Given the description of an element on the screen output the (x, y) to click on. 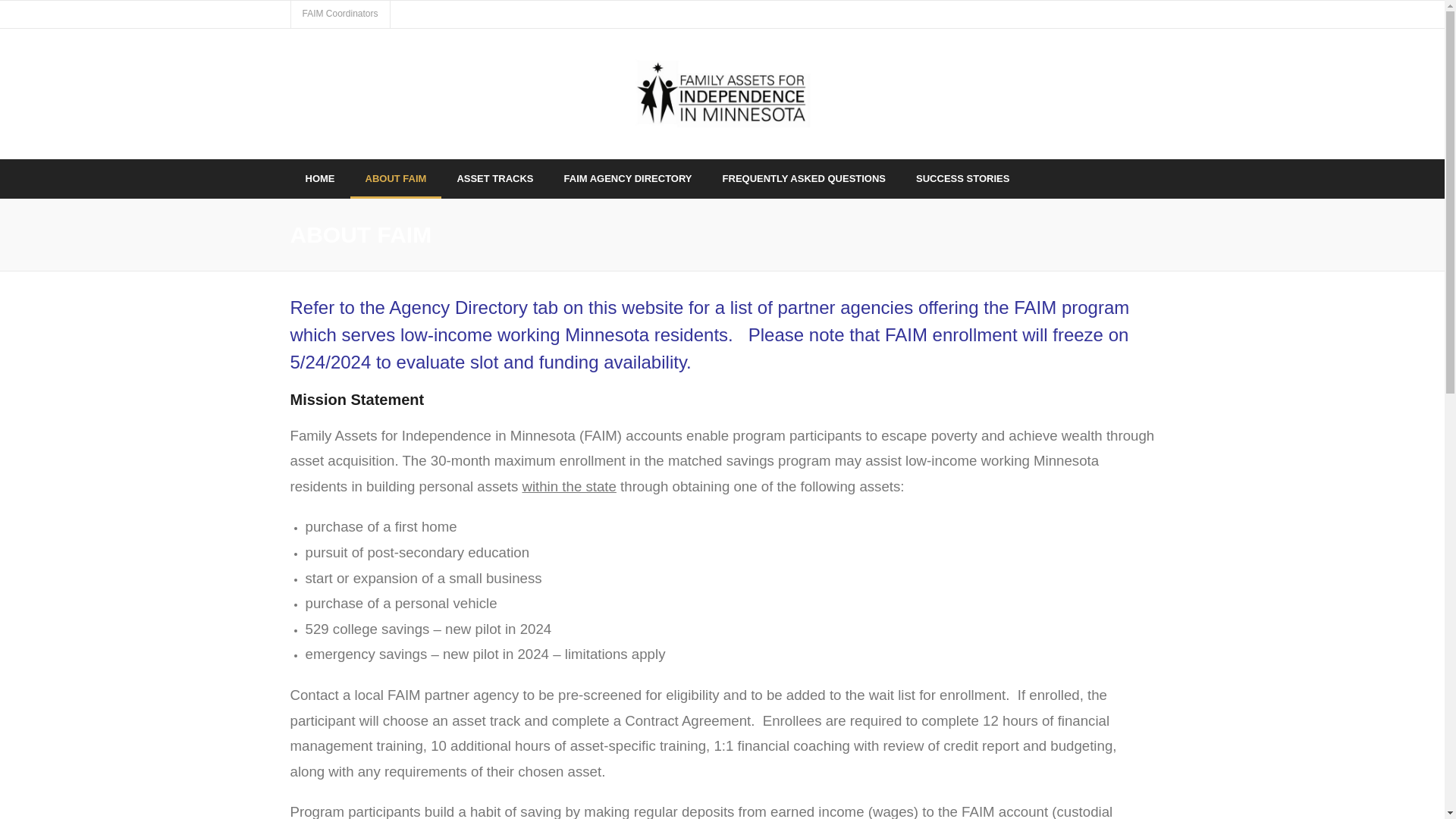
HOME (319, 178)
SUCCESS STORIES (963, 178)
FAIM AGENCY DIRECTORY (627, 178)
FREQUENTLY ASKED QUESTIONS (804, 178)
ASSET TRACKS (494, 178)
ABOUT FAIM (396, 178)
FAIM Coordinators (339, 13)
